Given the description of an element on the screen output the (x, y) to click on. 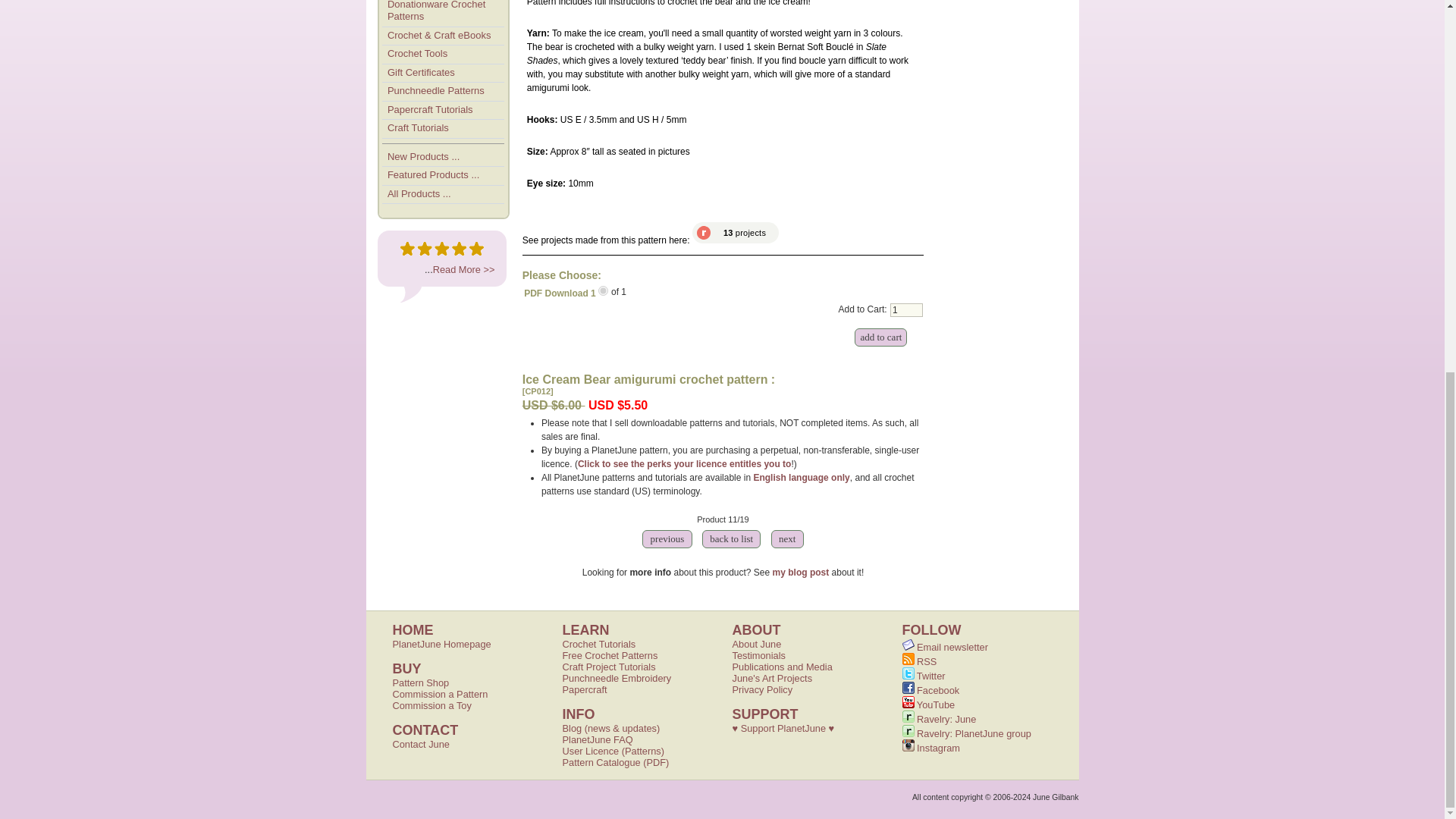
English language only (800, 477)
 back to list  (731, 538)
1 (906, 309)
Click to see the perks your licence entitles you to (684, 463)
add to cart (880, 337)
 previous  (667, 538)
 next  (787, 538)
216 (603, 290)
my blog post (801, 572)
add to cart (880, 337)
